Given the description of an element on the screen output the (x, y) to click on. 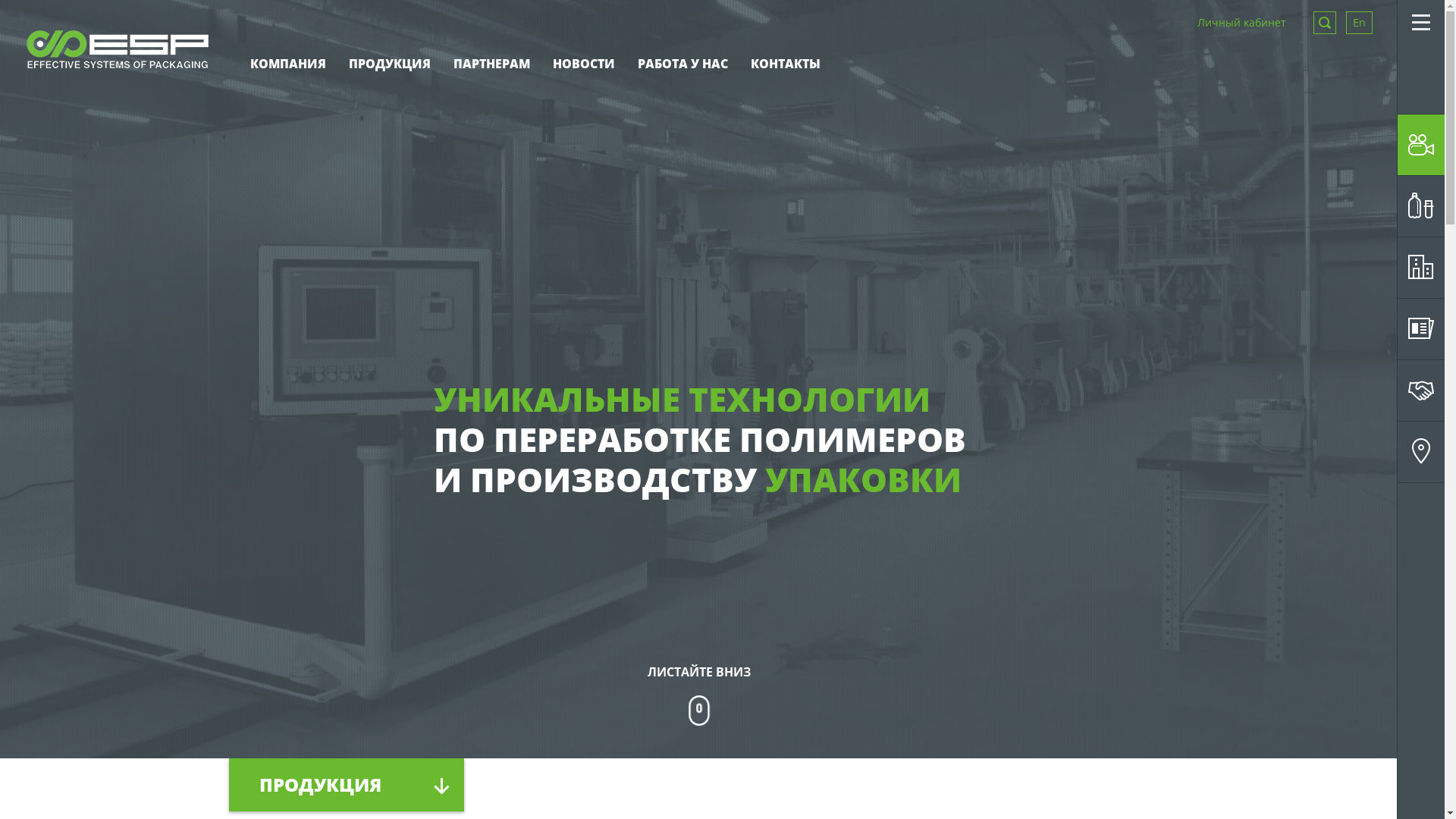
En Element type: text (1359, 22)
